Given the description of an element on the screen output the (x, y) to click on. 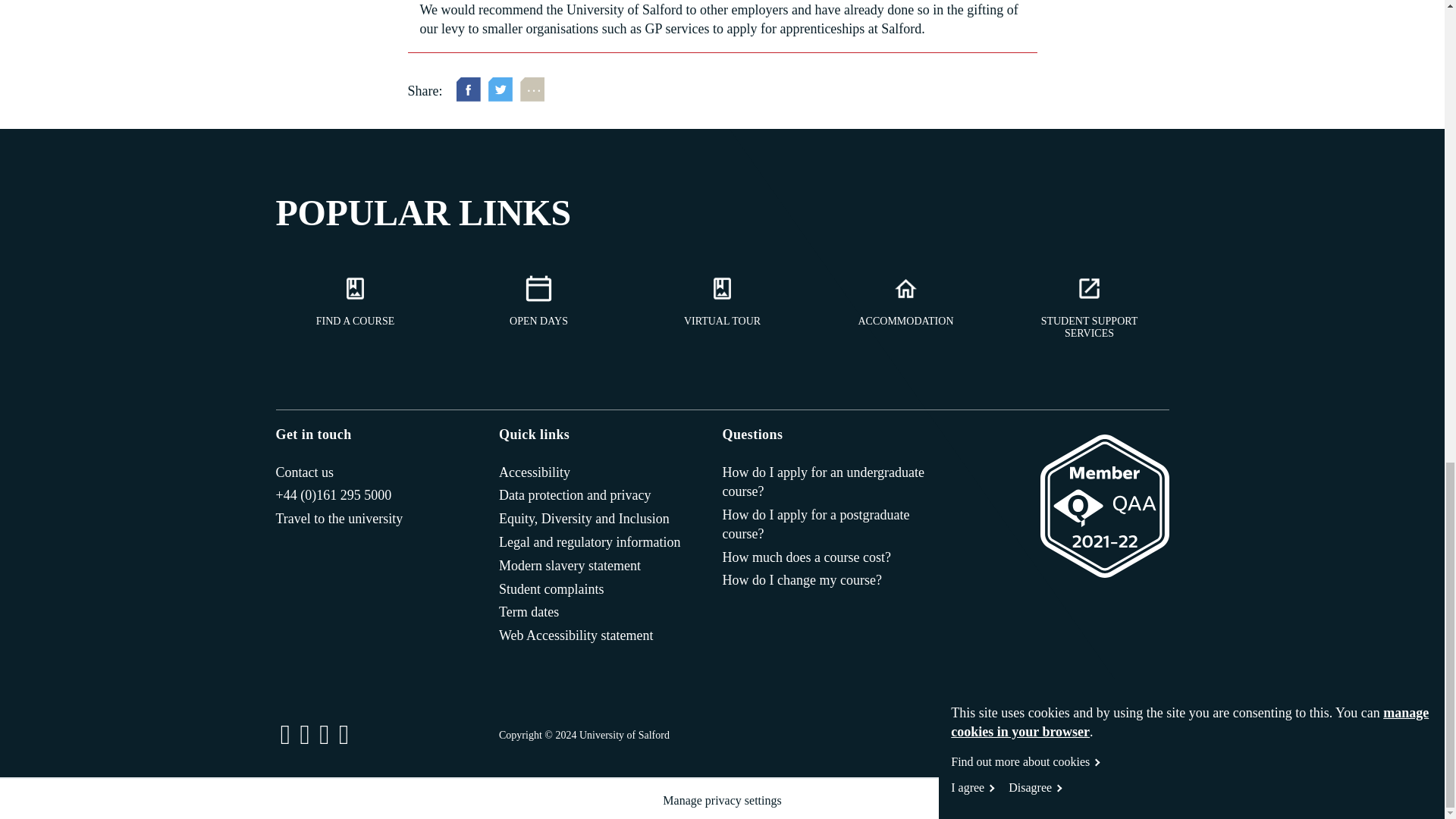
How much does a course cost? (805, 557)
How do I apply for a postgraduate course? (827, 524)
How do I apply for an undergraduate course? (827, 482)
Student Complaints (551, 588)
